Given the description of an element on the screen output the (x, y) to click on. 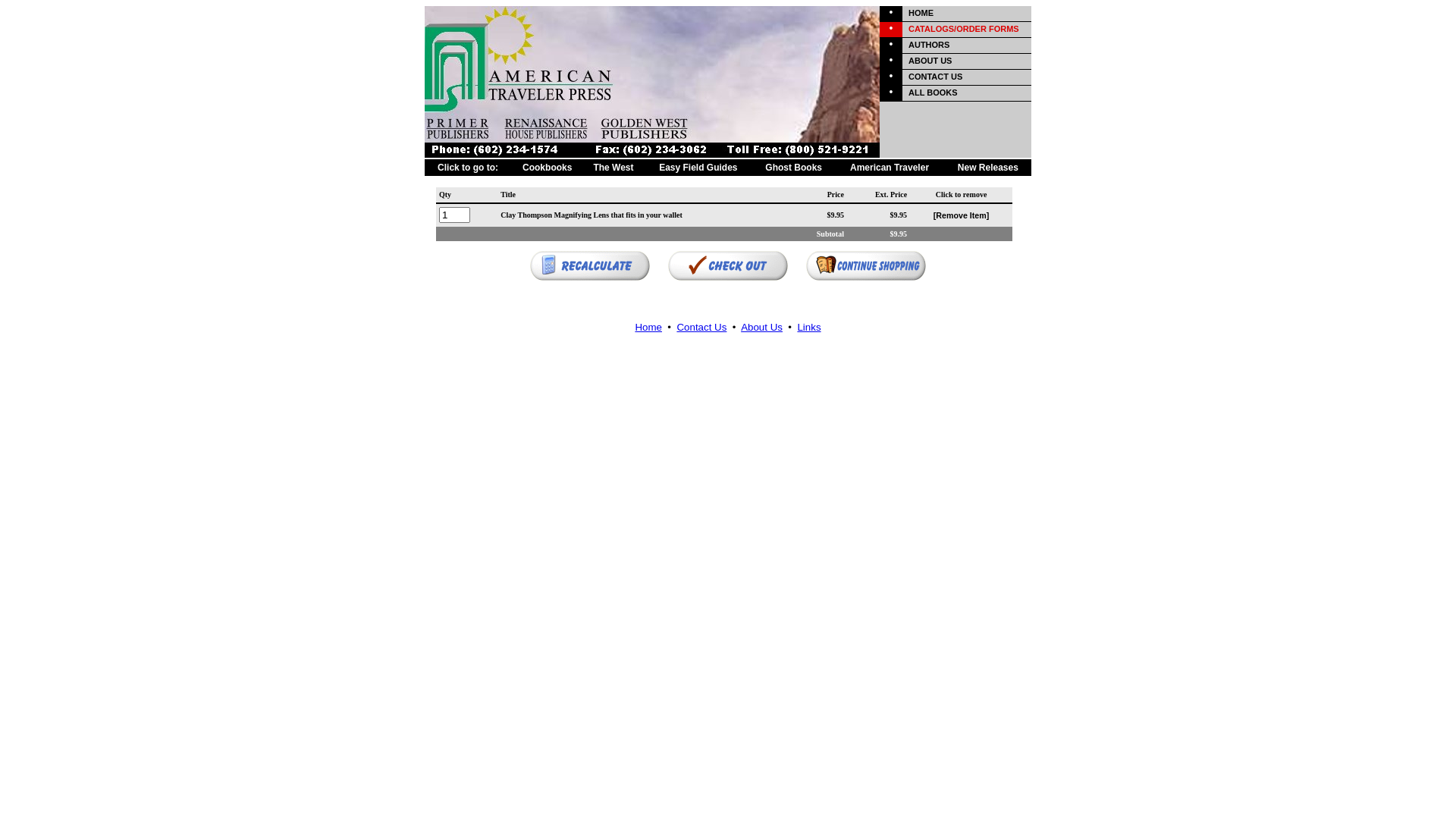
ABOUT US Element type: text (929, 60)
CONTACT US Element type: text (935, 76)
Home Element type: text (648, 326)
Cookbooks Element type: text (546, 167)
New Releases Element type: text (987, 167)
American Traveler Element type: text (889, 167)
Easy Field Guides Element type: text (697, 167)
CATALOGS/ORDER FORMS Element type: text (963, 28)
Ghost Books Element type: text (793, 167)
Contact Us Element type: text (701, 326)
AUTHORS Element type: text (928, 44)
[Remove Item] Element type: text (960, 216)
ALL BOOKS Element type: text (932, 92)
HOME Element type: text (920, 12)
Links Element type: text (808, 326)
The West Element type: text (612, 167)
About Us Element type: text (761, 326)
